Given the description of an element on the screen output the (x, y) to click on. 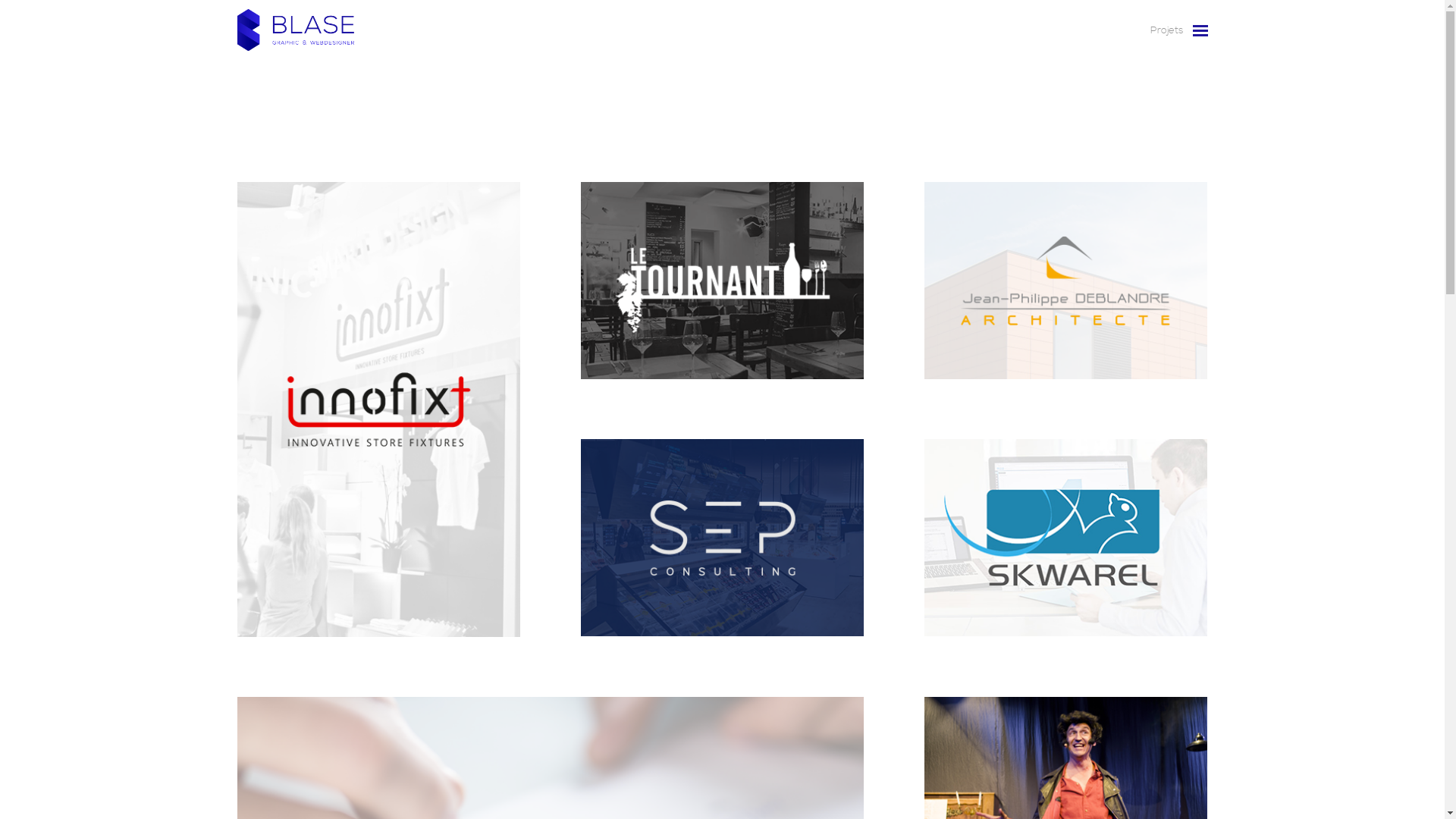
Projets Element type: text (1162, 30)
